Given the description of an element on the screen output the (x, y) to click on. 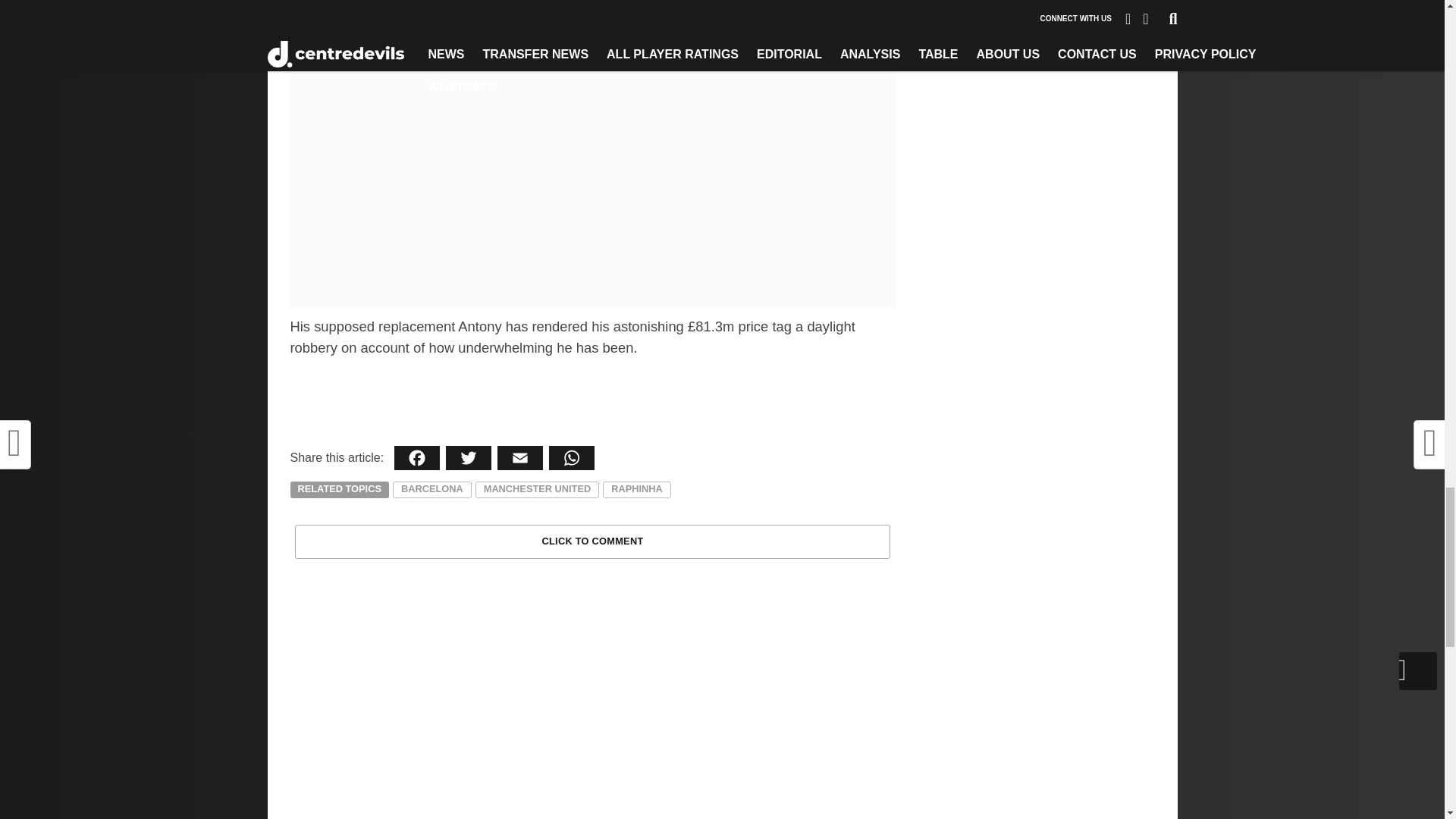
Facebook (416, 457)
Twitter (468, 457)
BARCELONA (432, 489)
RAPHINHA (636, 489)
WhatsApp (571, 457)
Email (520, 457)
MANCHESTER UNITED (537, 489)
WhatsApp (571, 457)
Facebook (416, 457)
Twitter (468, 457)
